Given the description of an element on the screen output the (x, y) to click on. 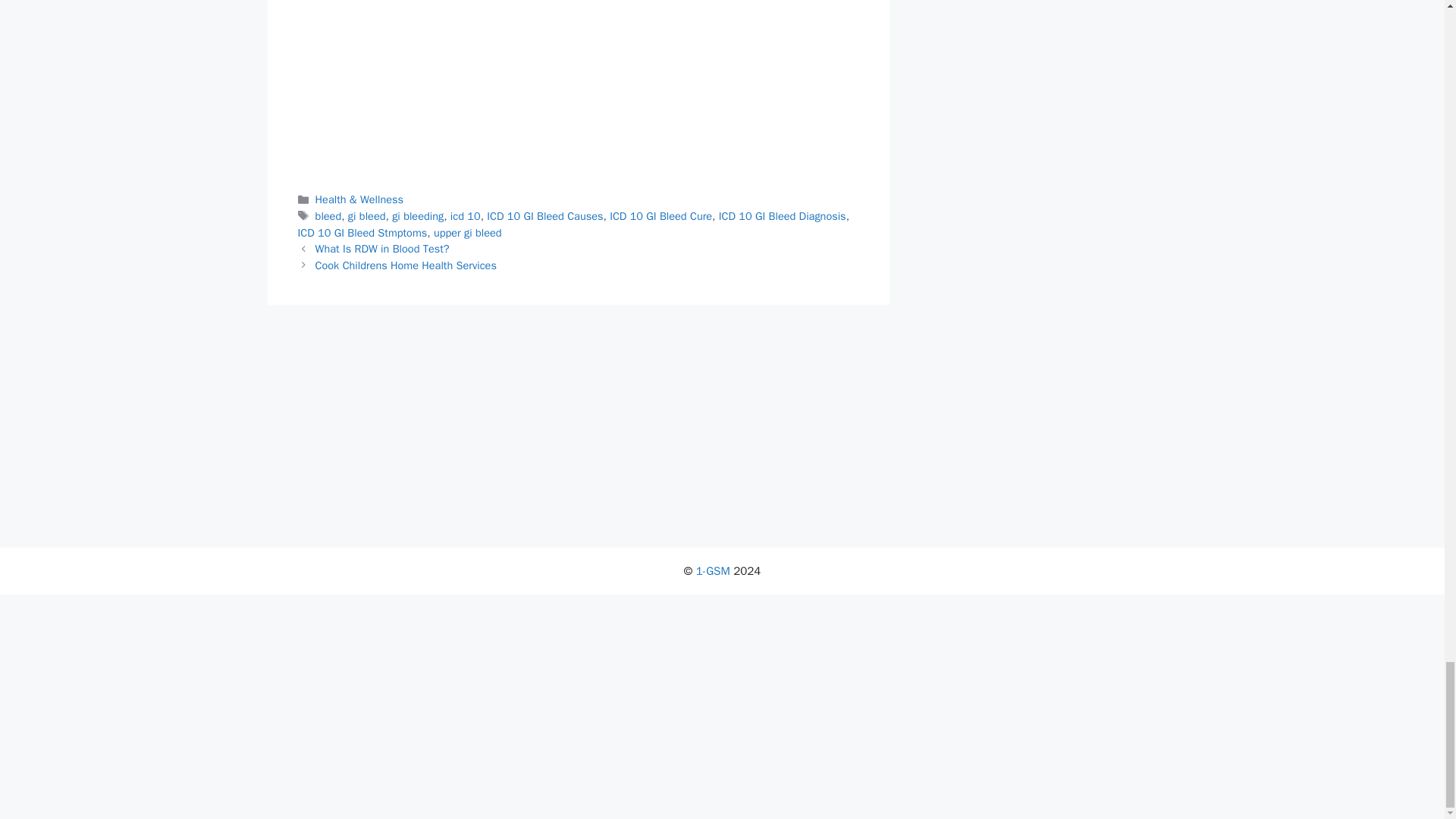
ICD 10 GI Bleed Stmptoms (361, 232)
gi bleed (366, 215)
ICD 10 GI Bleed Causes (544, 215)
icd 10 (464, 215)
Cook Childrens Home Health Services (405, 264)
bleed (328, 215)
upper gi bleed (467, 232)
gi bleeding (417, 215)
1-GSM (712, 571)
ICD 10 GI Bleed Cure (660, 215)
